Given the description of an element on the screen output the (x, y) to click on. 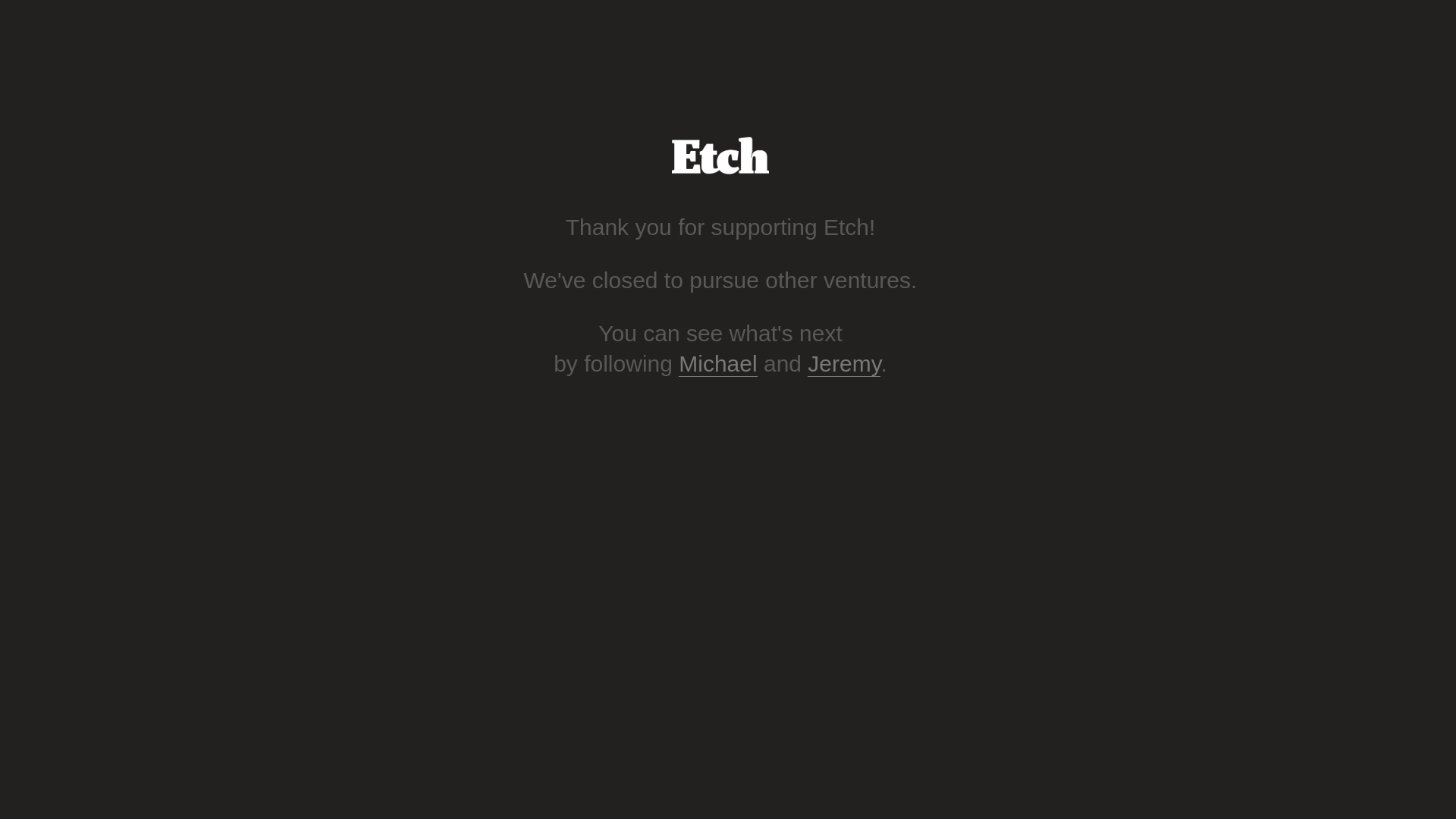
Jeremy Element type: text (843, 363)
Michael Element type: text (717, 363)
